Given the description of an element on the screen output the (x, y) to click on. 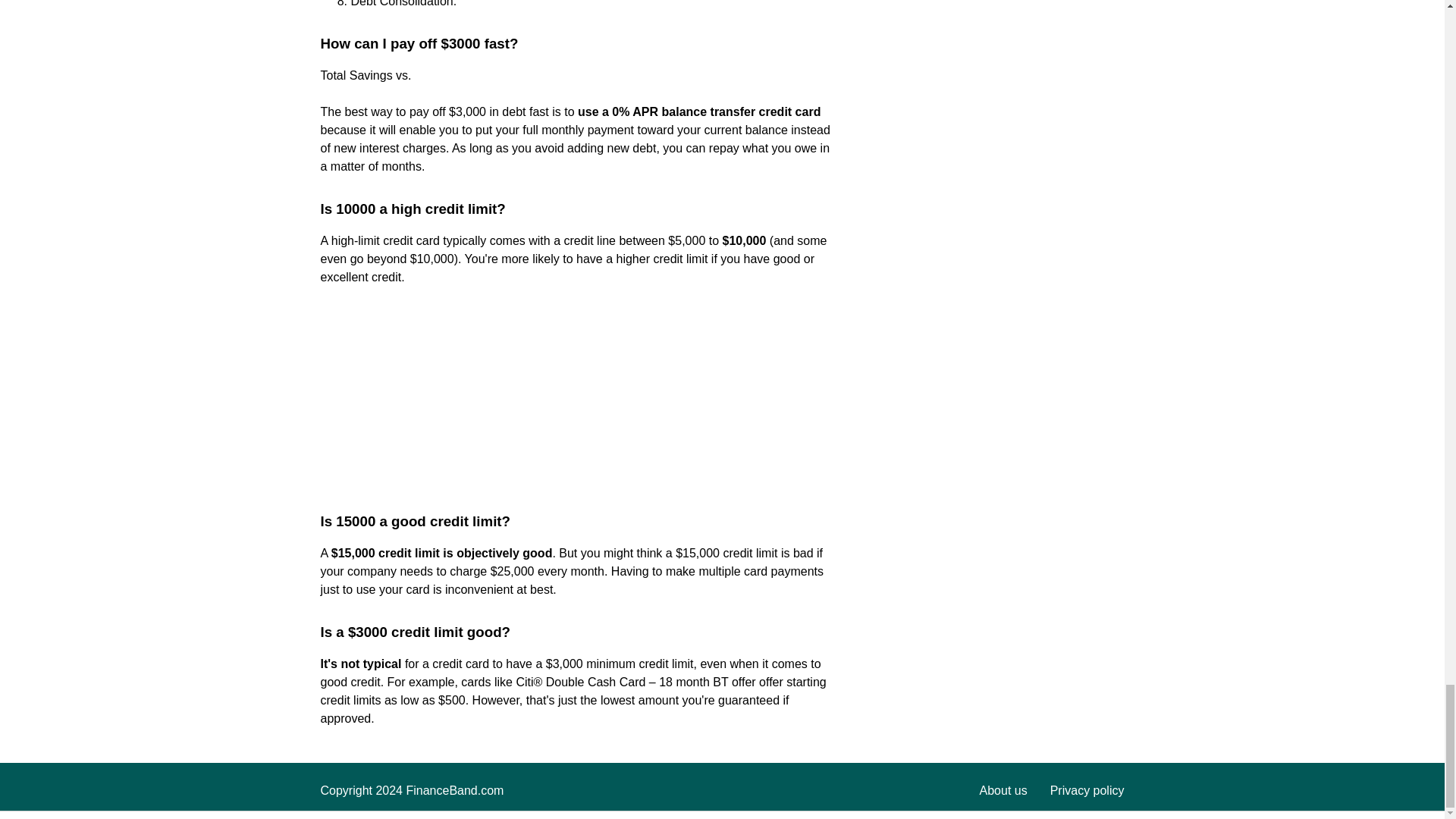
About us (1003, 790)
